Given the description of an element on the screen output the (x, y) to click on. 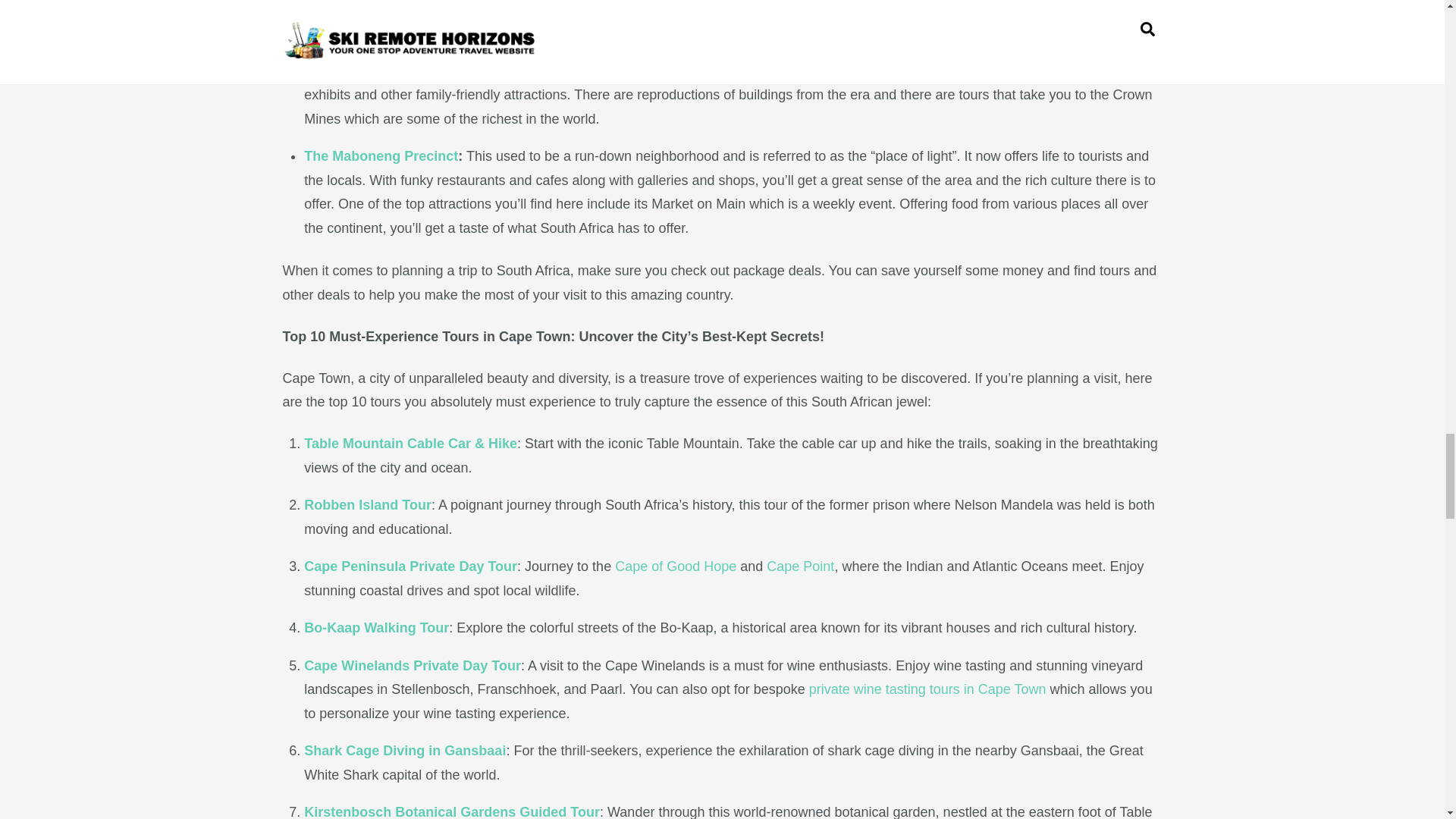
The Maboneng Precinct (381, 155)
Shark Cage Diving in Gansbaai (404, 750)
Cape Peninsula Private Day Tour (410, 566)
Bo-Kaap Walking Tour (376, 627)
private wine tasting tours in Cape Town (927, 688)
Robben Island Tour (367, 504)
Kirstenbosch Botanical Gardens Guided Tour (451, 811)
Gold Reef City: (353, 70)
Cape Point (800, 566)
Cape of Good Hope (675, 566)
